Given the description of an element on the screen output the (x, y) to click on. 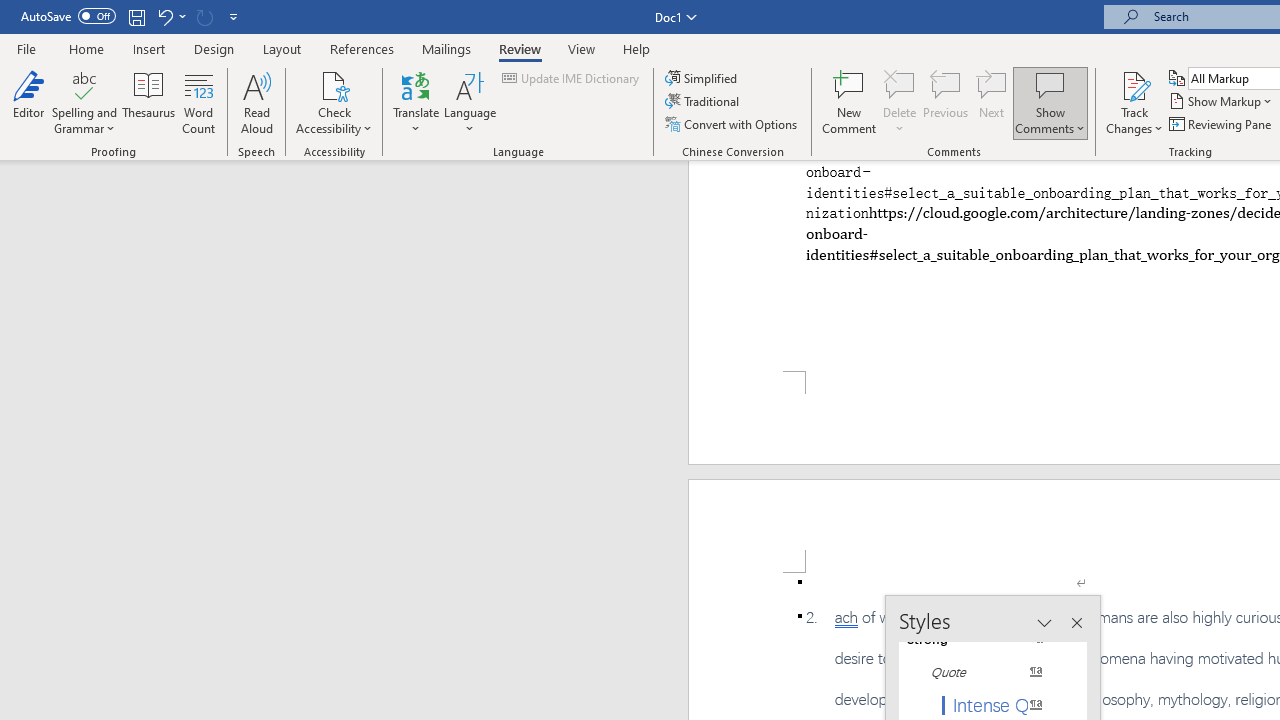
Check Accessibility (334, 102)
Traditional (703, 101)
Undo Paste (164, 15)
Reviewing Pane (1221, 124)
Track Changes (1134, 84)
Read Aloud (256, 102)
